Given the description of an element on the screen output the (x, y) to click on. 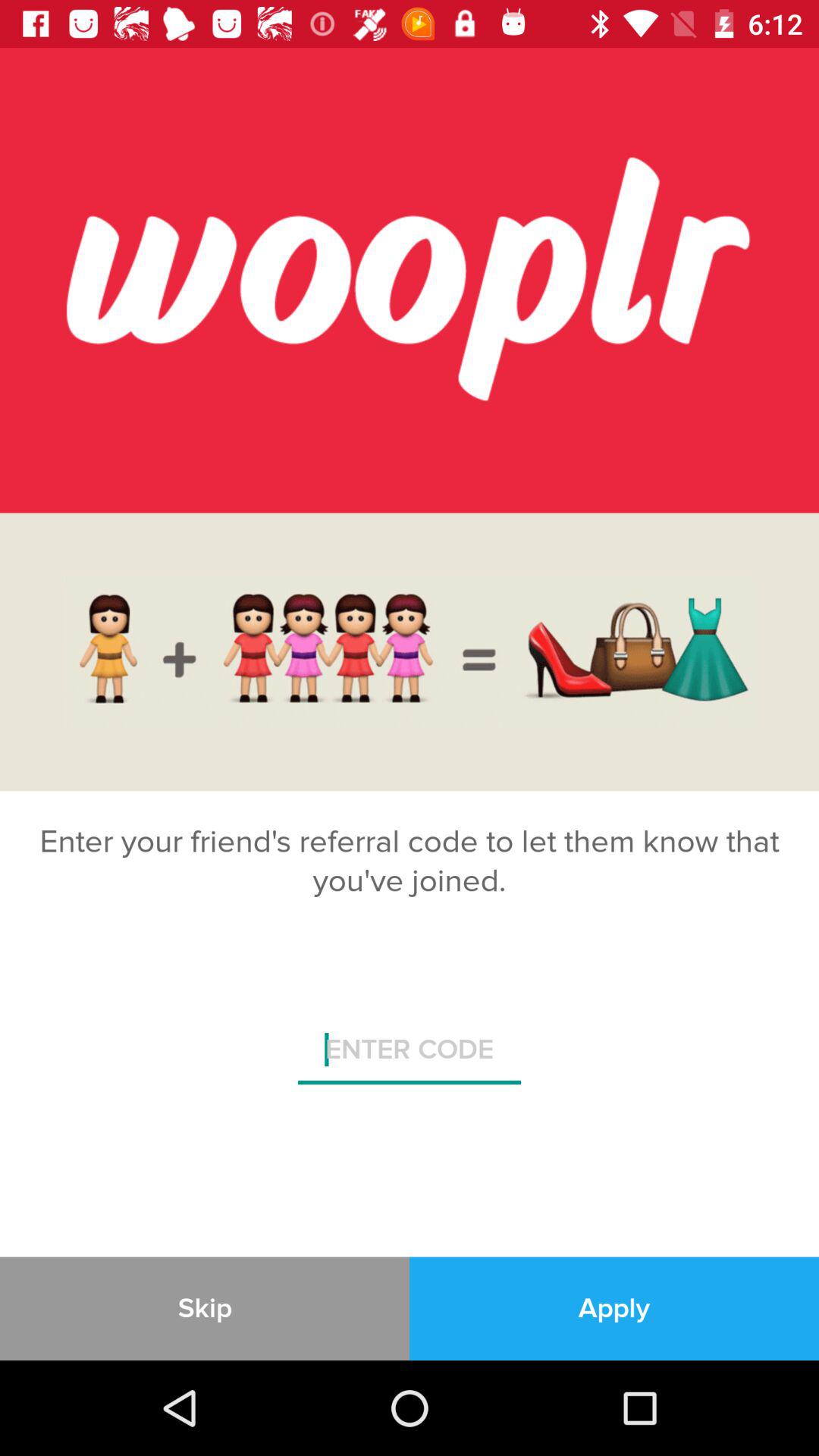
choose the icon above skip (409, 1055)
